Given the description of an element on the screen output the (x, y) to click on. 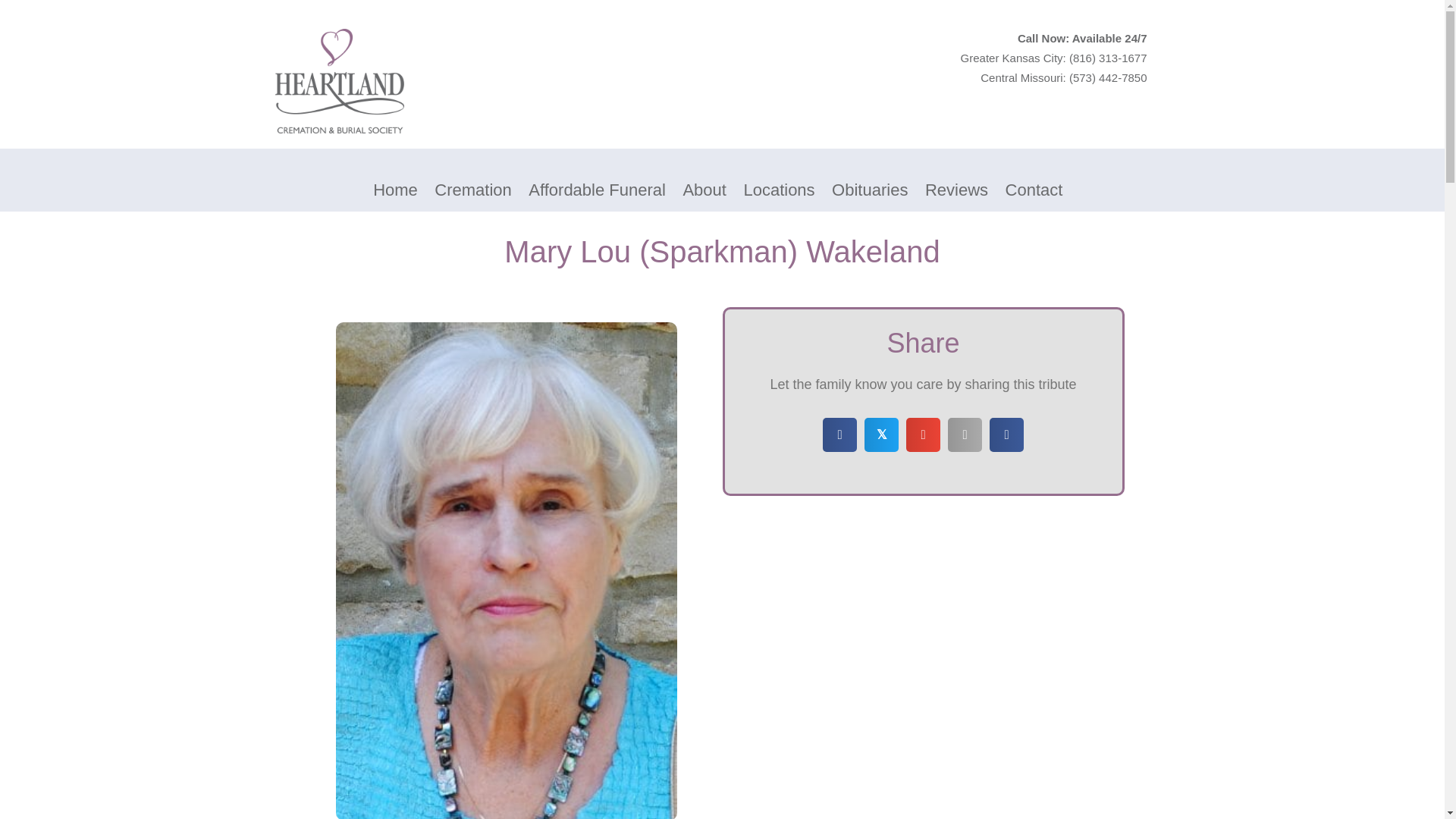
Locations (778, 190)
Affordable Funeral (596, 190)
Reviews (956, 190)
Cremation (472, 190)
Obituaries (869, 190)
Contact (1034, 190)
Home (395, 190)
logo (339, 80)
About (704, 190)
